Given the description of an element on the screen output the (x, y) to click on. 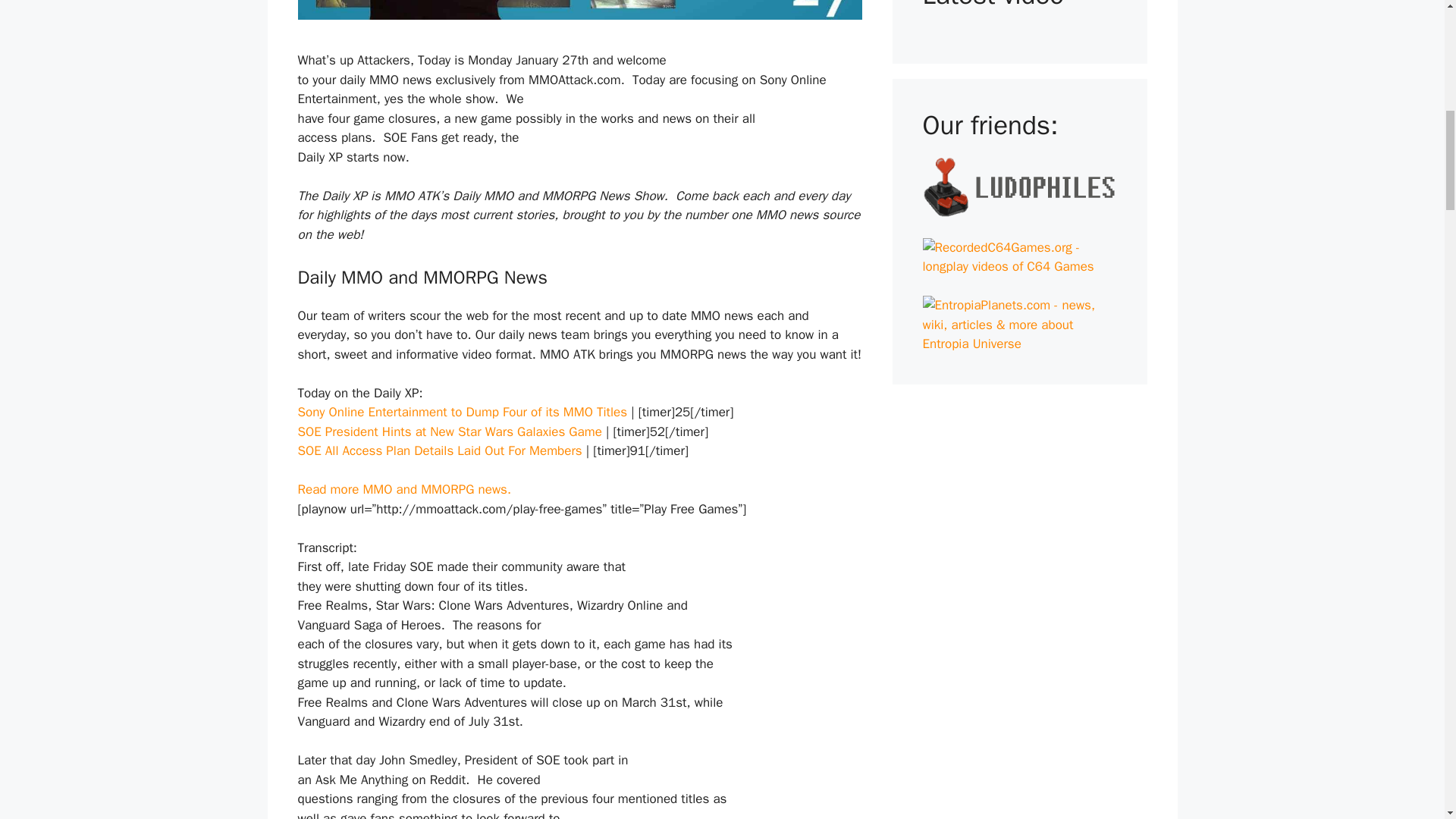
Sony Online Entertainment to Dump Four of its MMO Titles (462, 412)
SOE President Hints at New Star Wars Galaxies Game (449, 431)
Scroll back to top (1406, 720)
SOE All Access Plan Details Laid Out For Members (438, 450)
